Given the description of an element on the screen output the (x, y) to click on. 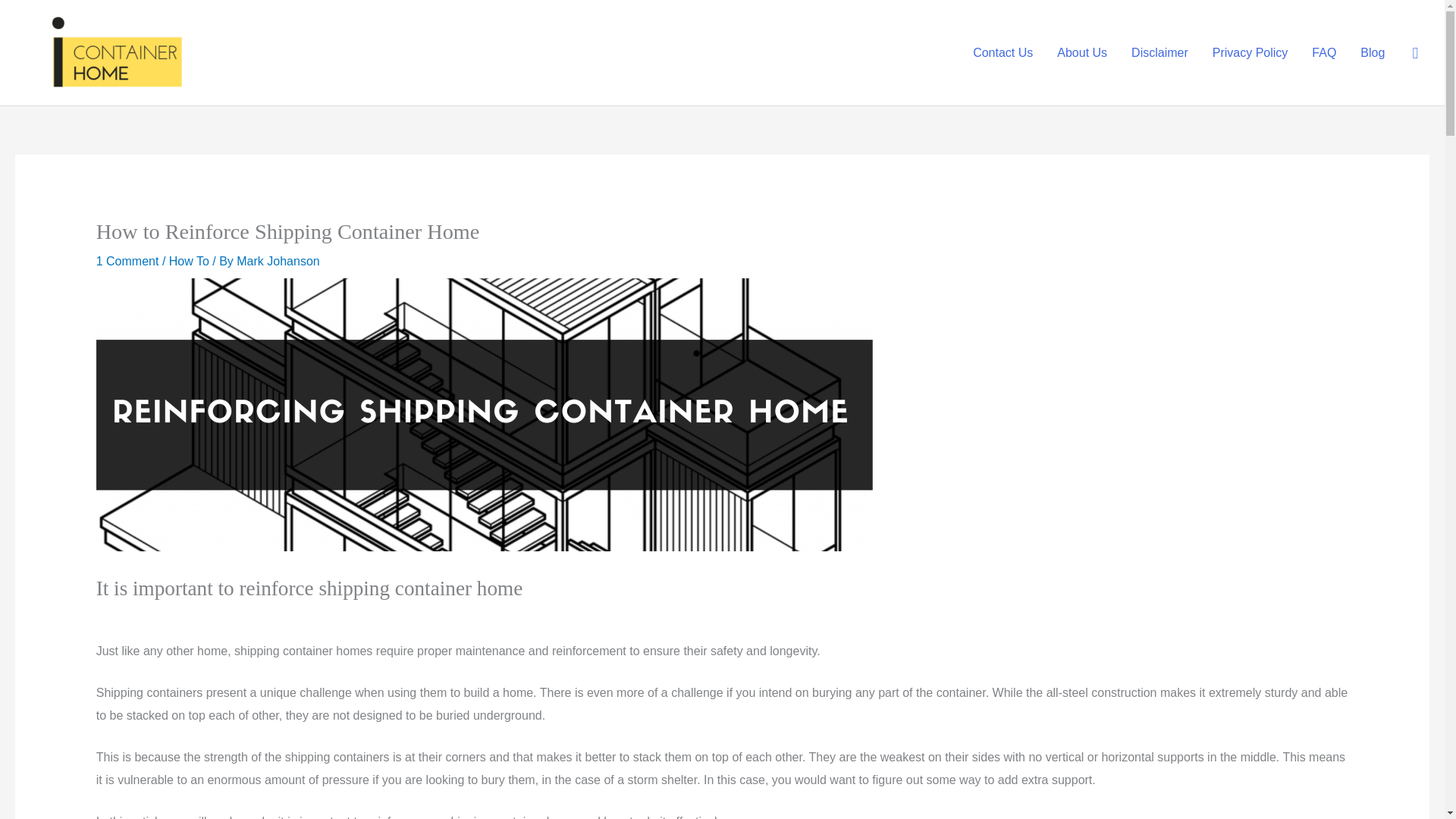
Disclaimer (1159, 51)
Blog (1372, 51)
1 Comment (127, 260)
About Us (1082, 51)
FAQ (1324, 51)
Contact Us (1002, 51)
Mark Johanson (276, 260)
How To (188, 260)
View all posts by Mark Johanson (276, 260)
Privacy Policy (1249, 51)
